Given the description of an element on the screen output the (x, y) to click on. 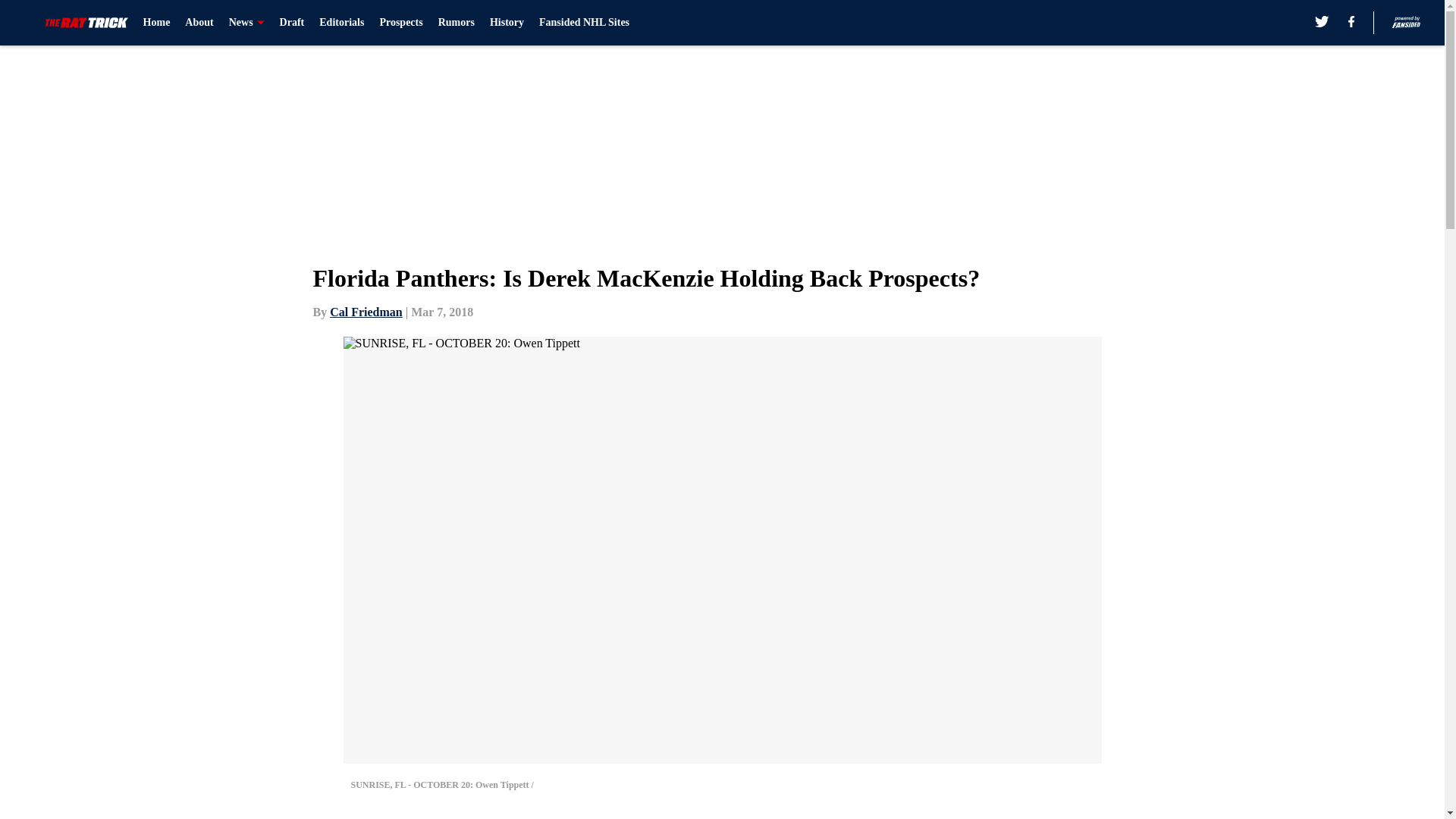
Editorials (341, 22)
History (506, 22)
Cal Friedman (366, 311)
Draft (291, 22)
Fansided NHL Sites (583, 22)
Rumors (456, 22)
Home (156, 22)
Prospects (400, 22)
About (198, 22)
